Given the description of an element on the screen output the (x, y) to click on. 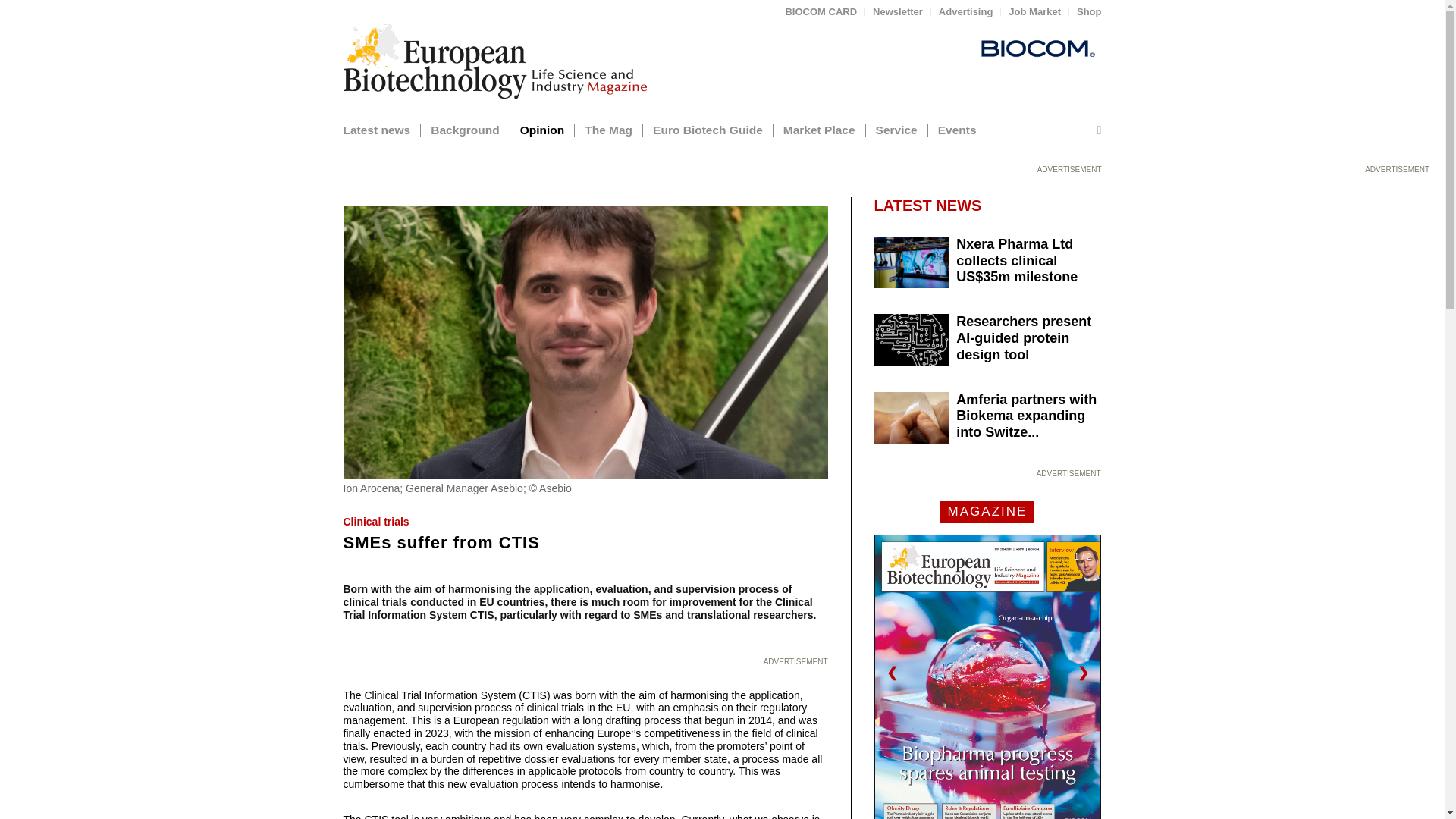
Market Place (829, 130)
Advertising (965, 11)
Opinion (552, 130)
Events (966, 130)
Background (473, 130)
BIOCOM CARD (820, 11)
Shop (1089, 11)
The Mag (617, 130)
Job Market (1035, 11)
Latest news (385, 130)
